Given the description of an element on the screen output the (x, y) to click on. 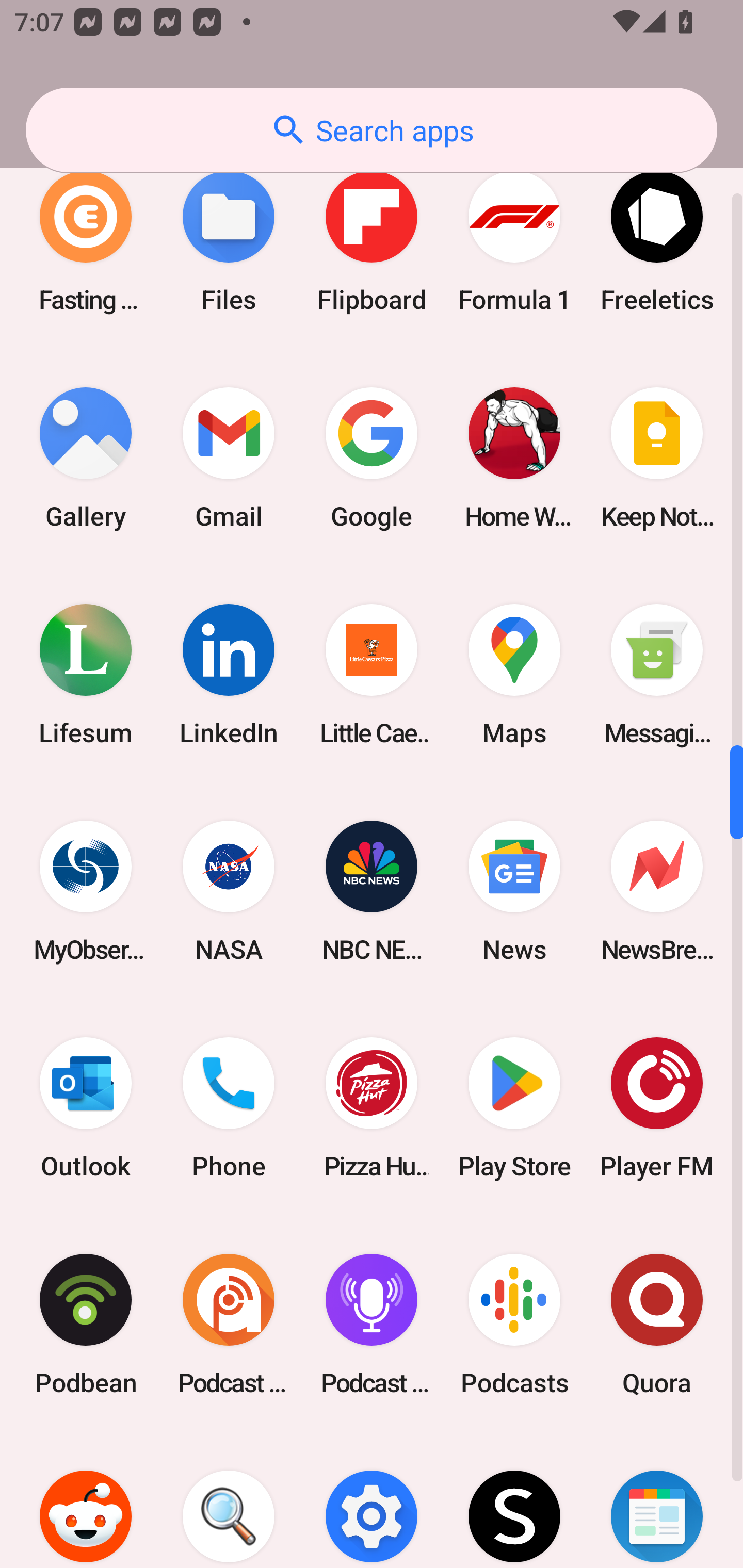
  Search apps (371, 130)
Fasting Coach (85, 241)
Files (228, 241)
Flipboard (371, 241)
Formula 1 (514, 241)
Freeletics (656, 241)
Gallery (85, 457)
Gmail (228, 457)
Google (371, 457)
Home Workout (514, 457)
Keep Notes (656, 457)
Lifesum (85, 674)
LinkedIn (228, 674)
Little Caesars Pizza (371, 674)
Maps (514, 674)
Messaging (656, 674)
MyObservatory (85, 891)
NASA (228, 891)
NBC NEWS (371, 891)
News (514, 891)
NewsBreak (656, 891)
Outlook (85, 1108)
Phone (228, 1108)
Pizza Hut HK & Macau (371, 1108)
Play Store (514, 1108)
Player FM (656, 1108)
Podbean (85, 1324)
Podcast Addict (228, 1324)
Podcast Player (371, 1324)
Podcasts (514, 1324)
Quora (656, 1324)
Reddit (85, 1500)
Search (228, 1500)
Settings (371, 1500)
SHEIN (514, 1500)
SmartNews (656, 1500)
